Given the description of an element on the screen output the (x, y) to click on. 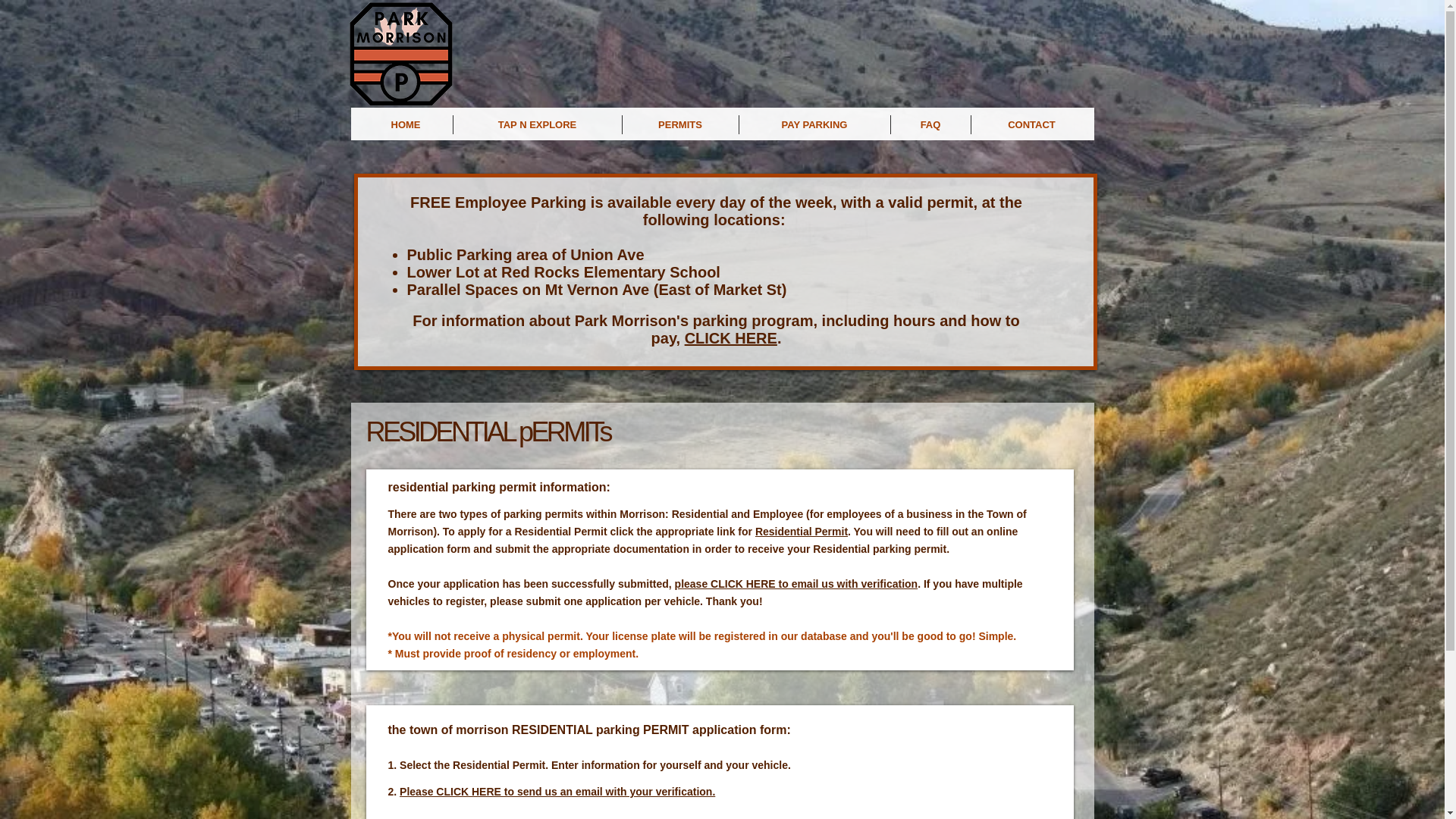
TAP N EXPLORE (536, 124)
please CLICK HERE to email us with verification (796, 583)
CLICK HERE (730, 338)
Residential Permit (801, 531)
HOME (405, 124)
PAY PARKING (813, 124)
CONTACT (1031, 124)
FAQ (929, 124)
